Given the description of an element on the screen output the (x, y) to click on. 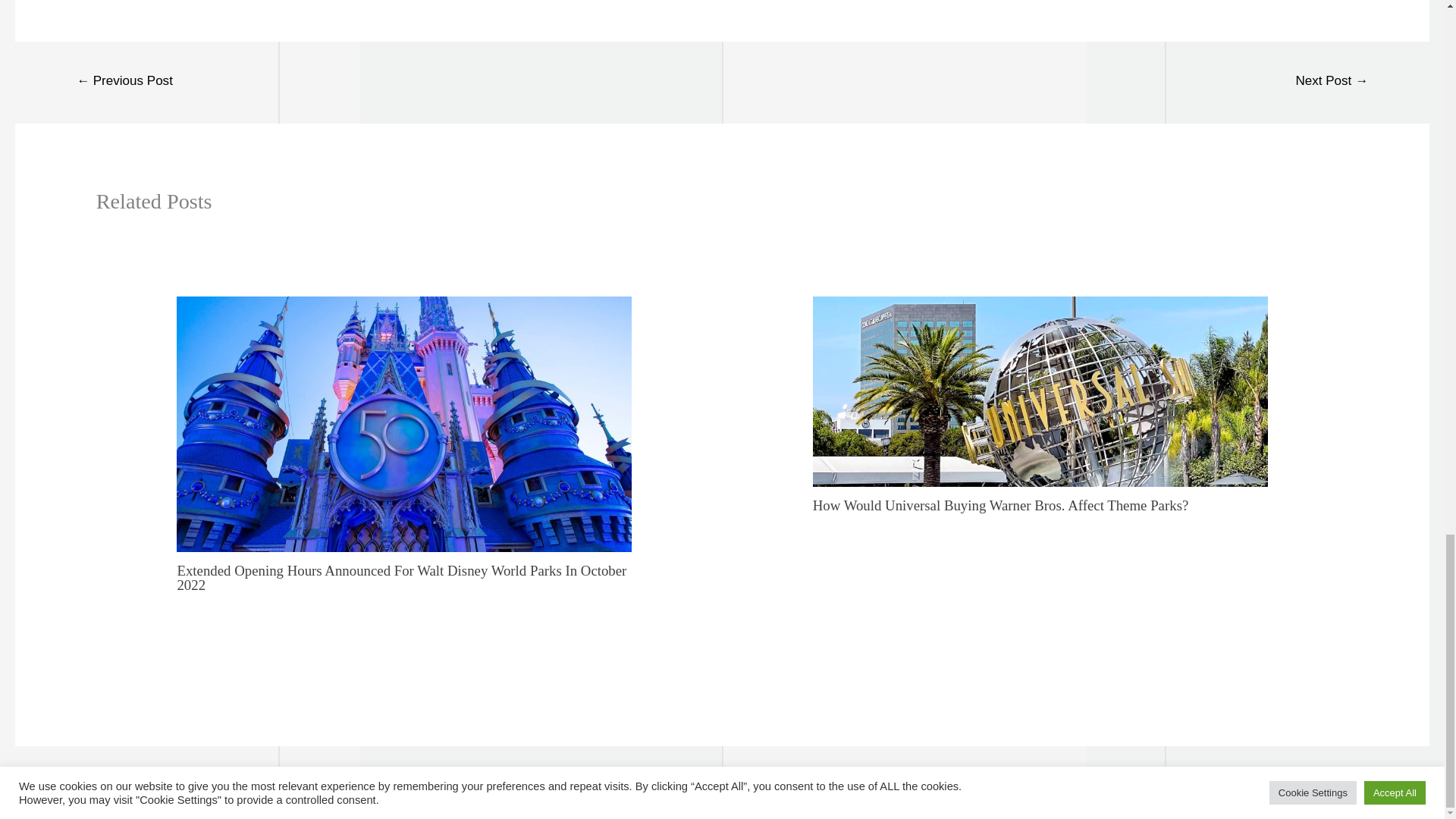
How Would Universal Buying Warner Bros. Affect Theme Parks? (1000, 505)
